Given the description of an element on the screen output the (x, y) to click on. 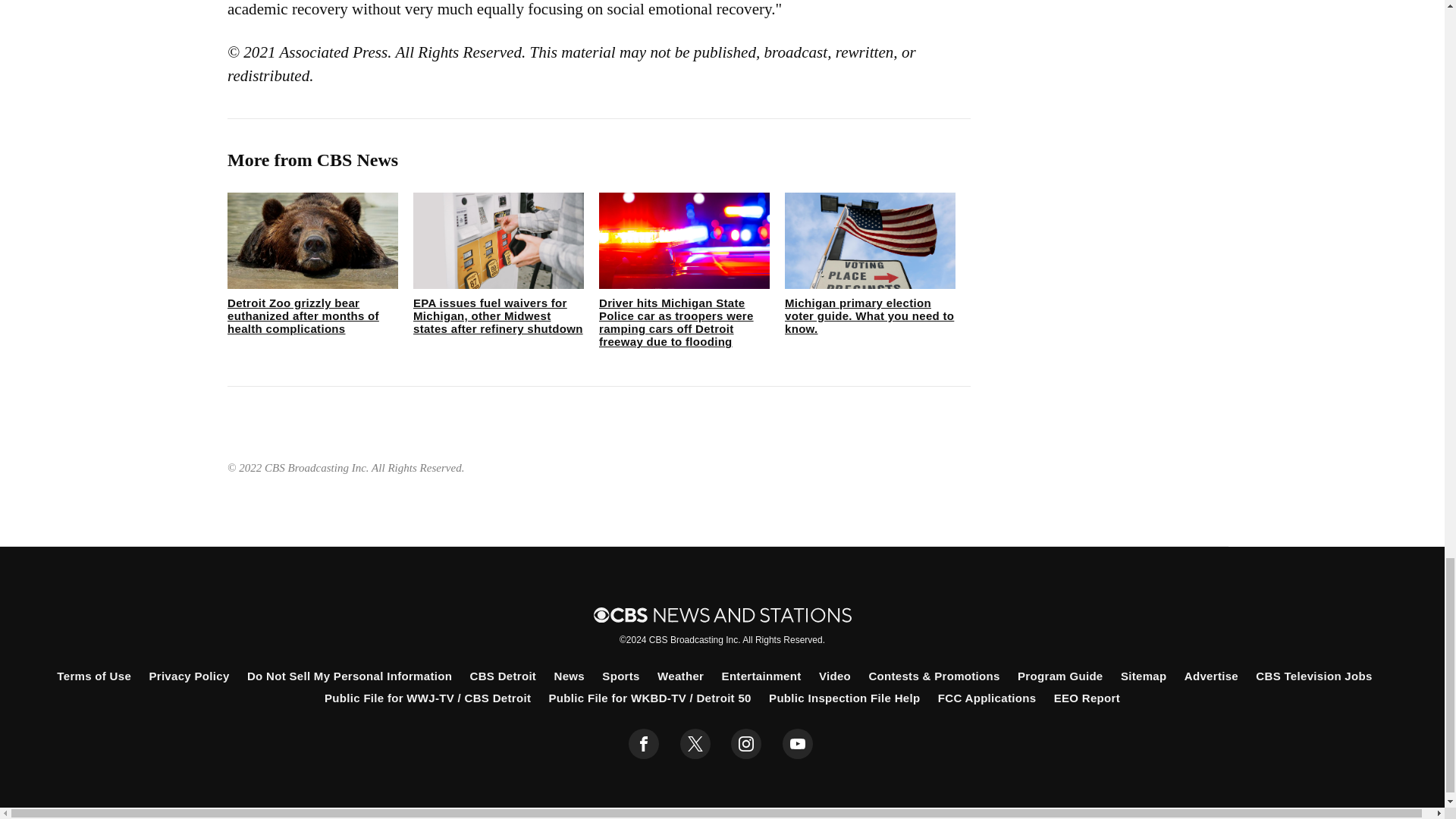
twitter (694, 743)
youtube (797, 743)
instagram (745, 743)
facebook (643, 743)
